Given the description of an element on the screen output the (x, y) to click on. 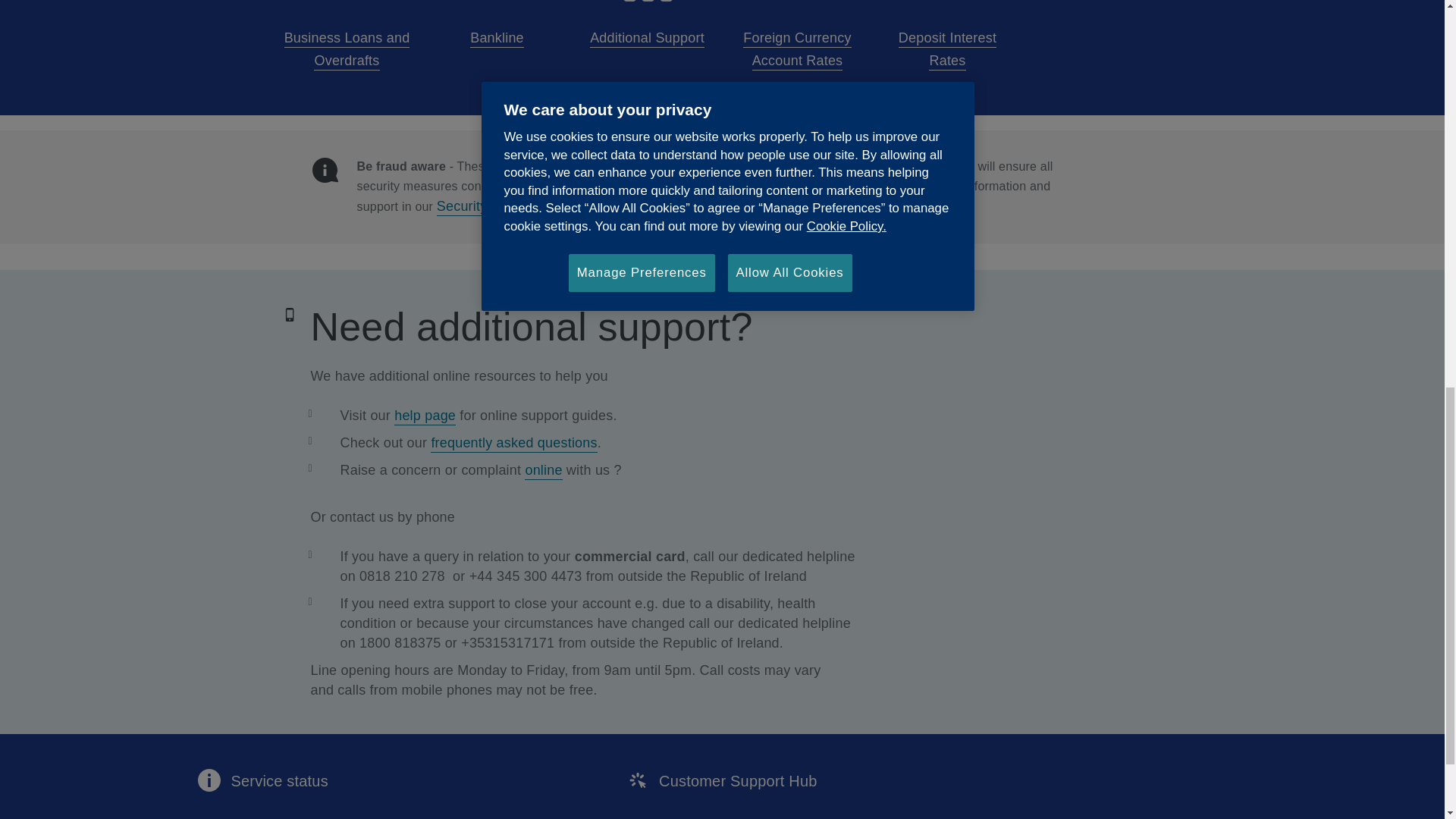
Bankline (497, 38)
Security Centre. (486, 205)
Deposit Interest Rates (946, 47)
frequently asked questions (513, 441)
Additional Support (646, 38)
Foreign Currency Account Rates (796, 47)
Foreign Currency Account Rates (796, 47)
Service status (262, 778)
Business Loans and Overdrafts (346, 47)
Additional Support (646, 38)
online (543, 468)
Business Loans and Overdrafts (346, 47)
Deposit Interest Rates (946, 47)
Customer Support Hub (721, 778)
Bankline (497, 38)
